Given the description of an element on the screen output the (x, y) to click on. 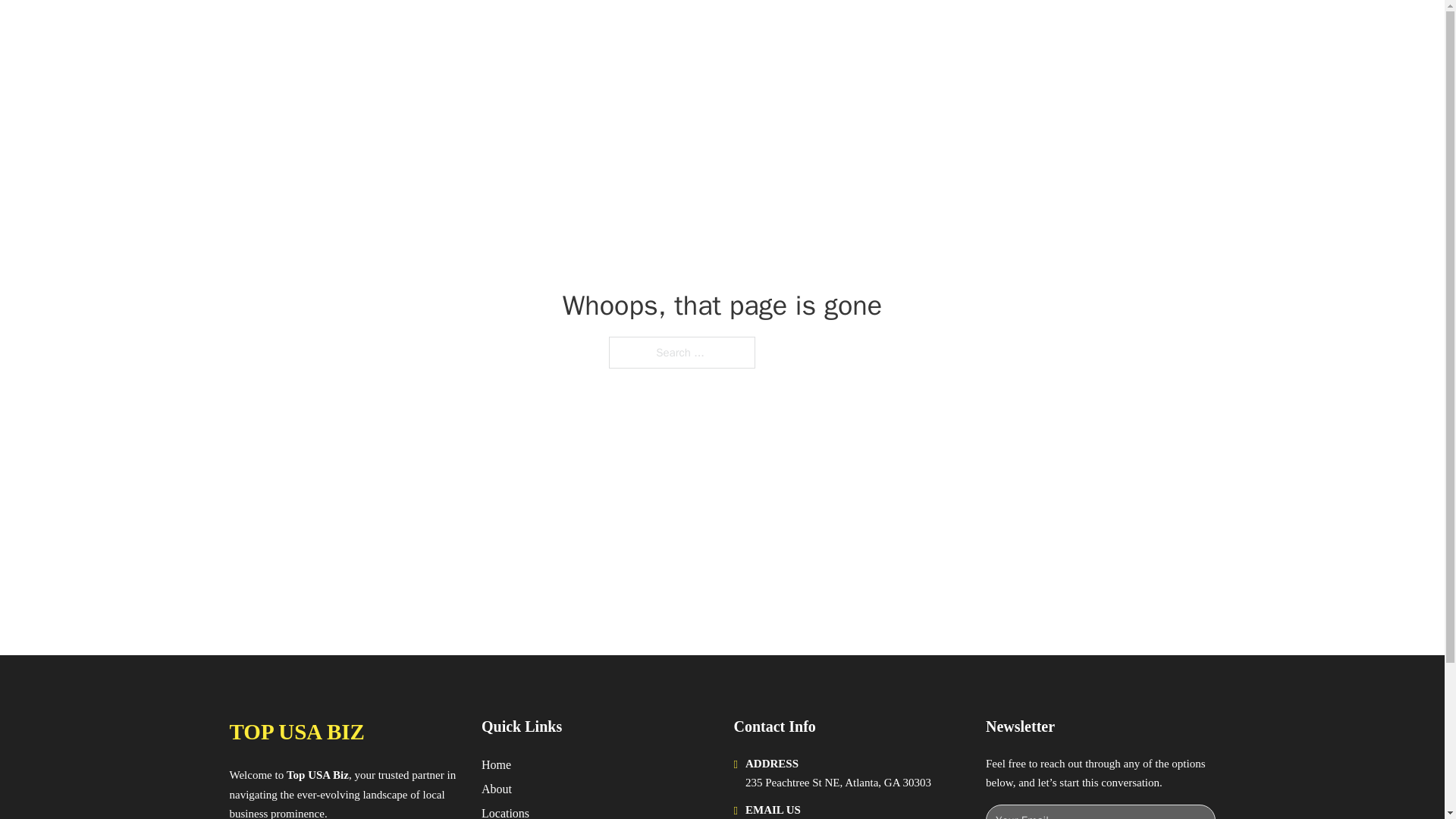
About (496, 788)
Locations (505, 811)
TOP USA BIZ (296, 732)
LOCATIONS (990, 29)
HOME (919, 29)
Home (496, 764)
TOP USA BIZ (376, 28)
